Given the description of an element on the screen output the (x, y) to click on. 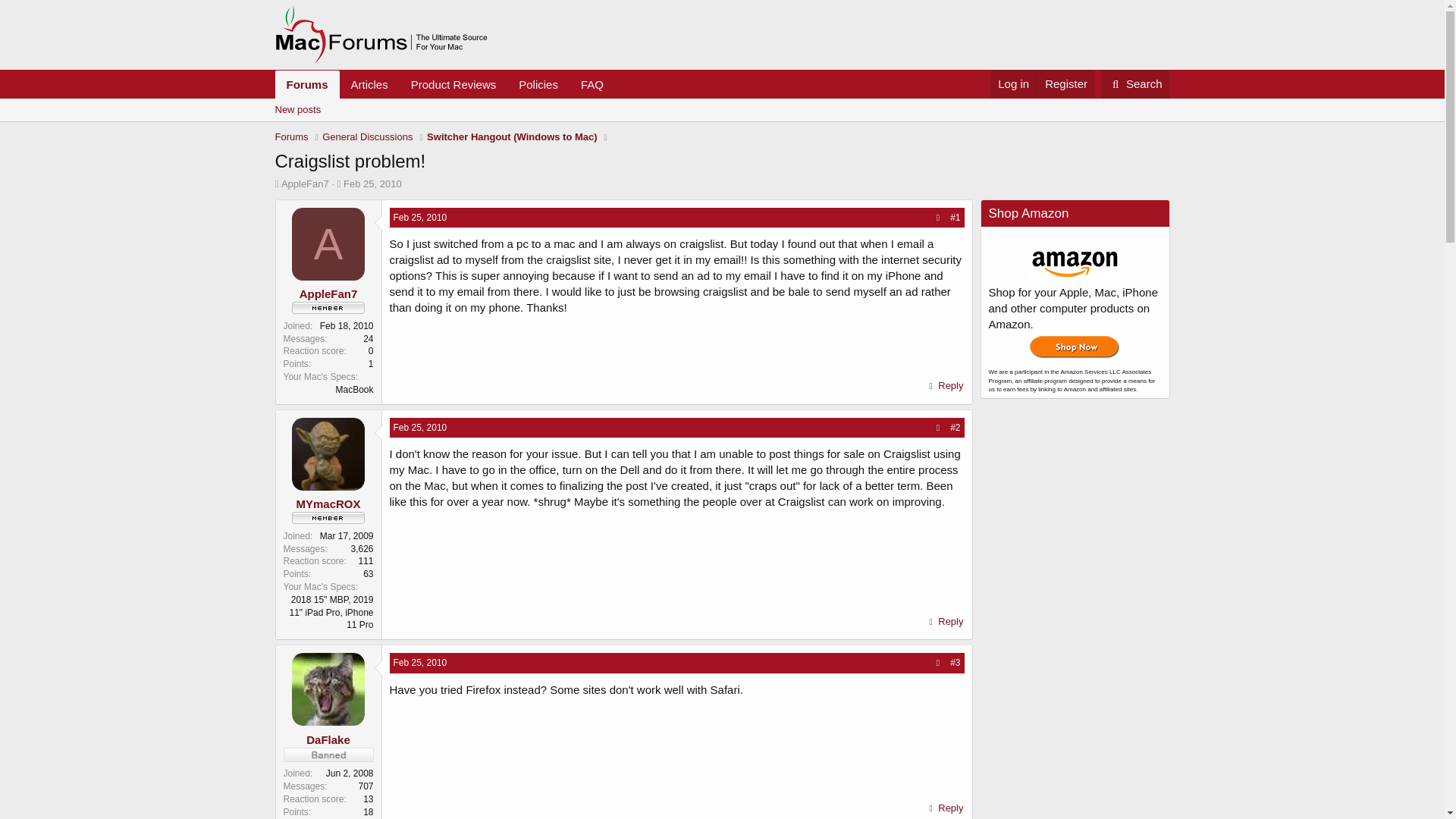
Reply, quoting this message (944, 385)
Register (1065, 83)
New posts (296, 109)
Log in (1013, 83)
Reply (944, 385)
Product Reviews (453, 84)
Feb 25, 2010 (419, 217)
Feb 25, 2010 at 4:50 PM (443, 101)
Search (372, 183)
Feb 25, 2010 (1135, 83)
Feb 25, 2010 (419, 427)
Feb 25, 2010 at 5:54 PM (372, 183)
General Discussions (419, 427)
DaFlake (366, 136)
